Given the description of an element on the screen output the (x, y) to click on. 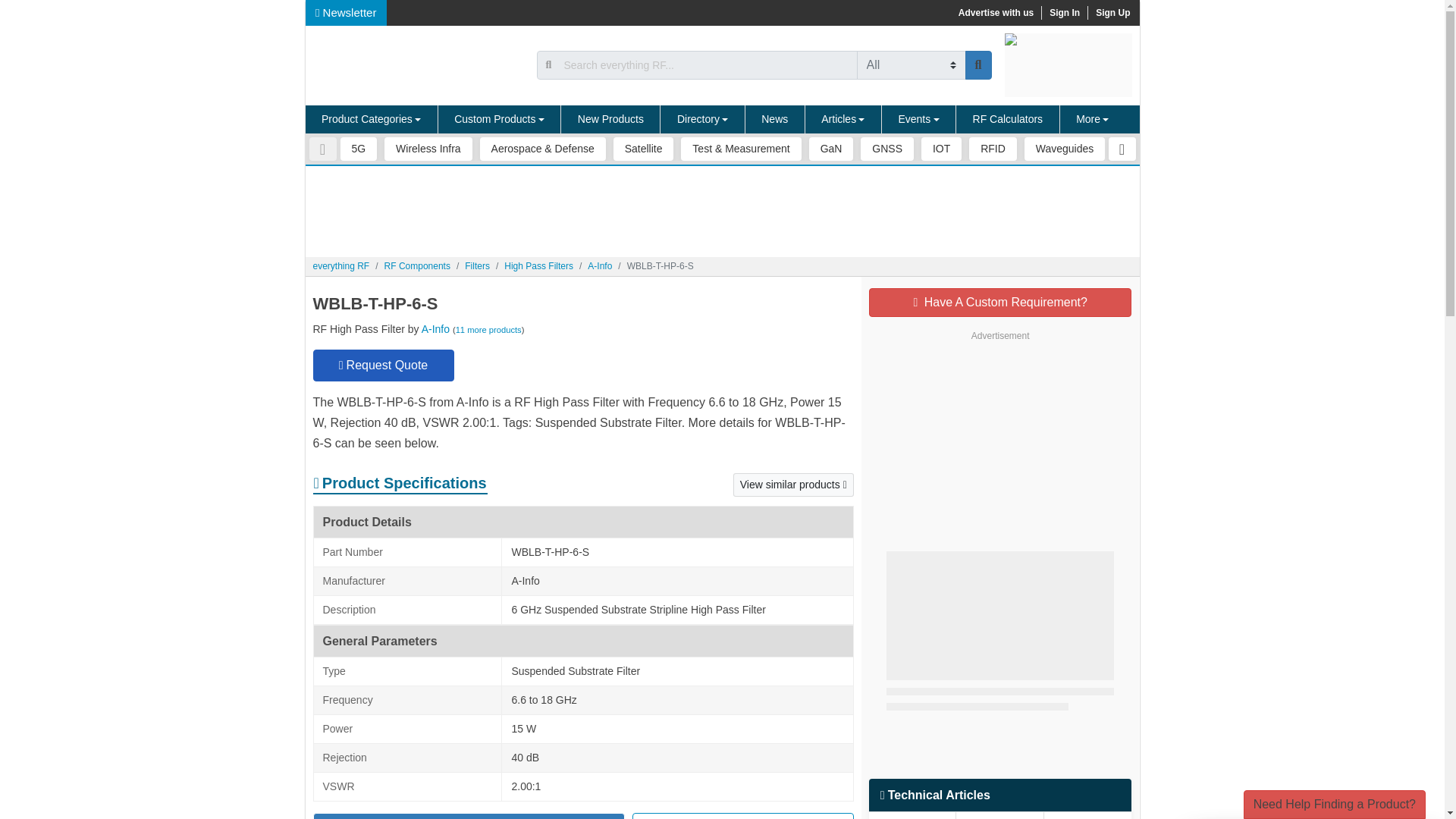
Newsletter (345, 12)
Advertise with us (995, 12)
Sign In (1064, 12)
Sign Up (1112, 12)
Product Categories (371, 119)
